Given the description of an element on the screen output the (x, y) to click on. 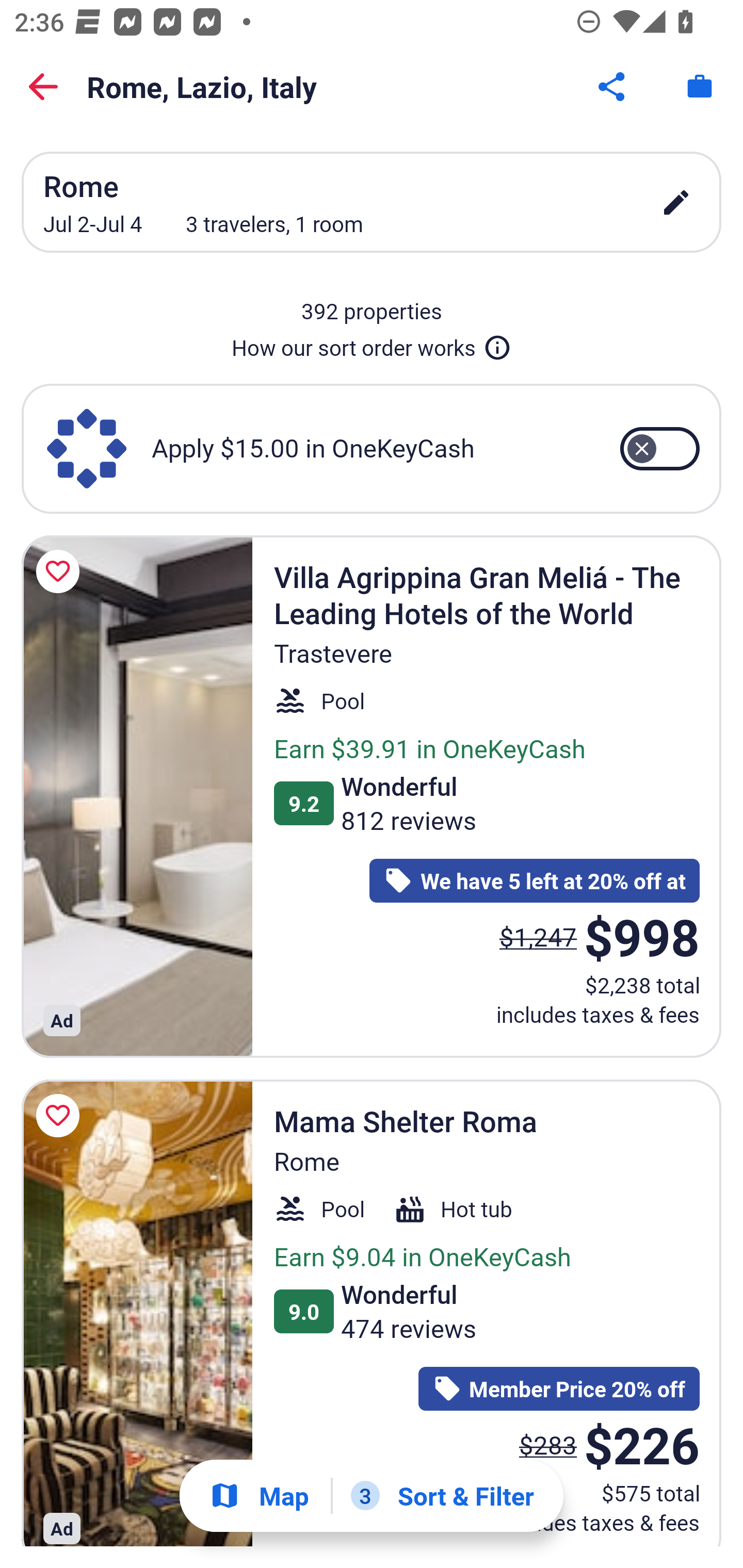
Back (43, 86)
Share Button (612, 86)
Trips. Button (699, 86)
Rome Jul 2-Jul 4 3 travelers, 1 room edit (371, 202)
How our sort order works (371, 344)
$1,247 The price was $1,247 (537, 936)
Save Mama Shelter Roma  to a trip (61, 1115)
Mama Shelter Roma  (136, 1312)
$283 The price was $283 (547, 1444)
3 Sort & Filter 3 Filters applied. Filters Button (442, 1495)
Show map Map Show map Button (258, 1495)
